Given the description of an element on the screen output the (x, y) to click on. 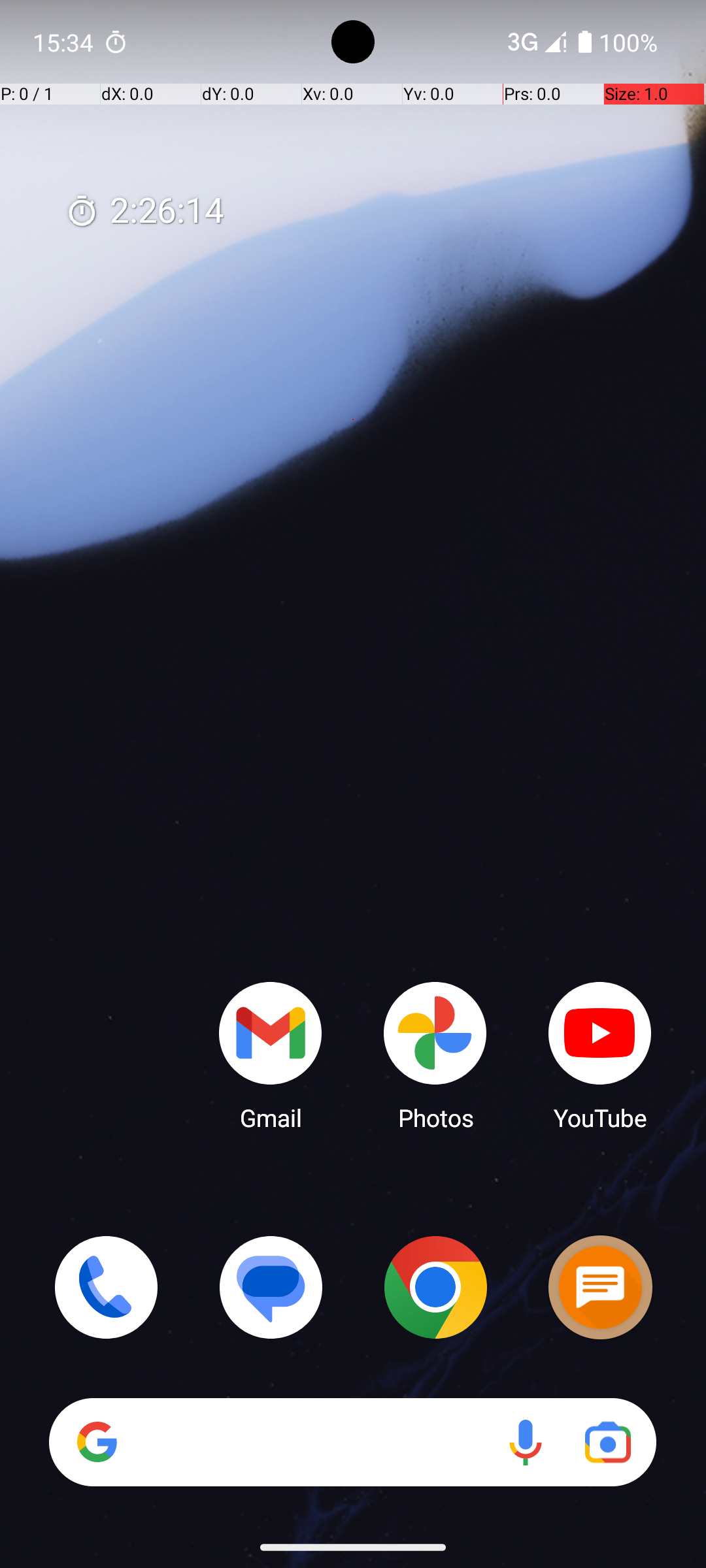
2:26:14 Element type: android.widget.TextView (144, 210)
